Given the description of an element on the screen output the (x, y) to click on. 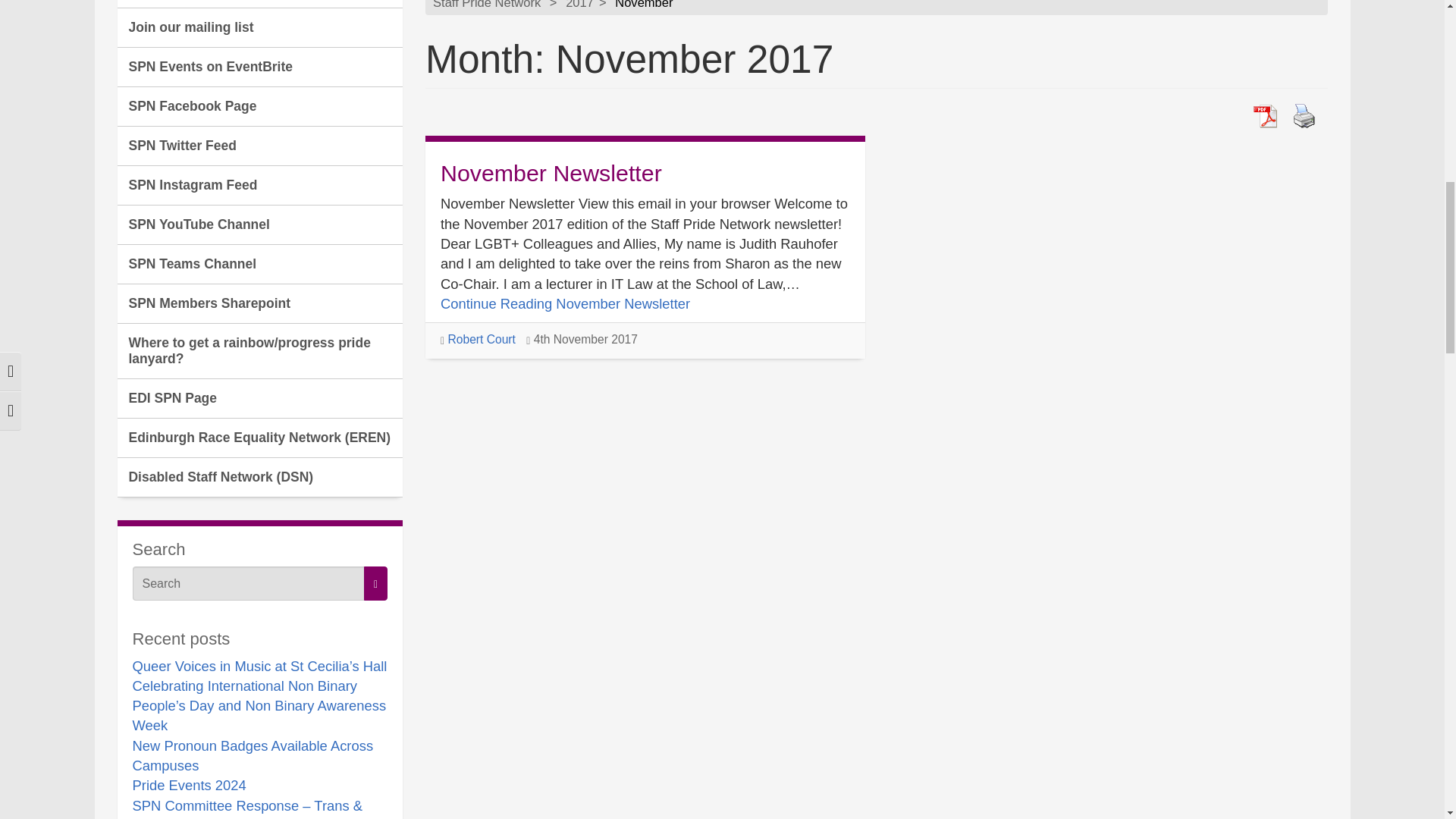
Join our mailing list (259, 27)
Join the Staff Pride Network (259, 4)
Go to this blog's homepage. (486, 5)
Join our mailing list (259, 27)
Pride Events 2024 (189, 785)
SPN YouTube Channel (259, 224)
SPN Facebook Page (259, 106)
New Pronoun Badges Available Across Campuses (252, 755)
SPN Instagram Feed (259, 185)
SPN YouTube Channel (259, 224)
